Given the description of an element on the screen output the (x, y) to click on. 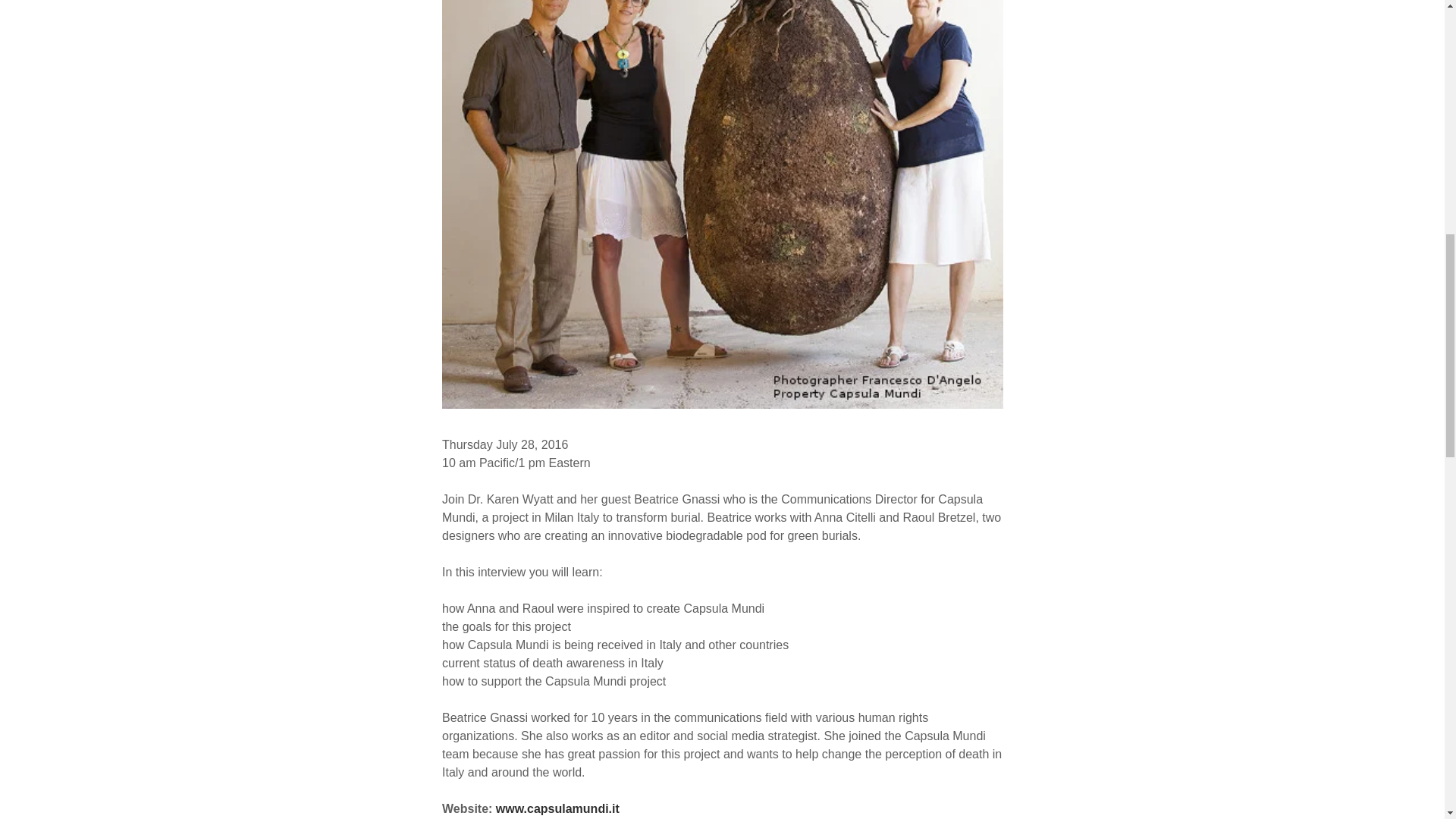
www.capsulamundi.it (556, 808)
